Given the description of an element on the screen output the (x, y) to click on. 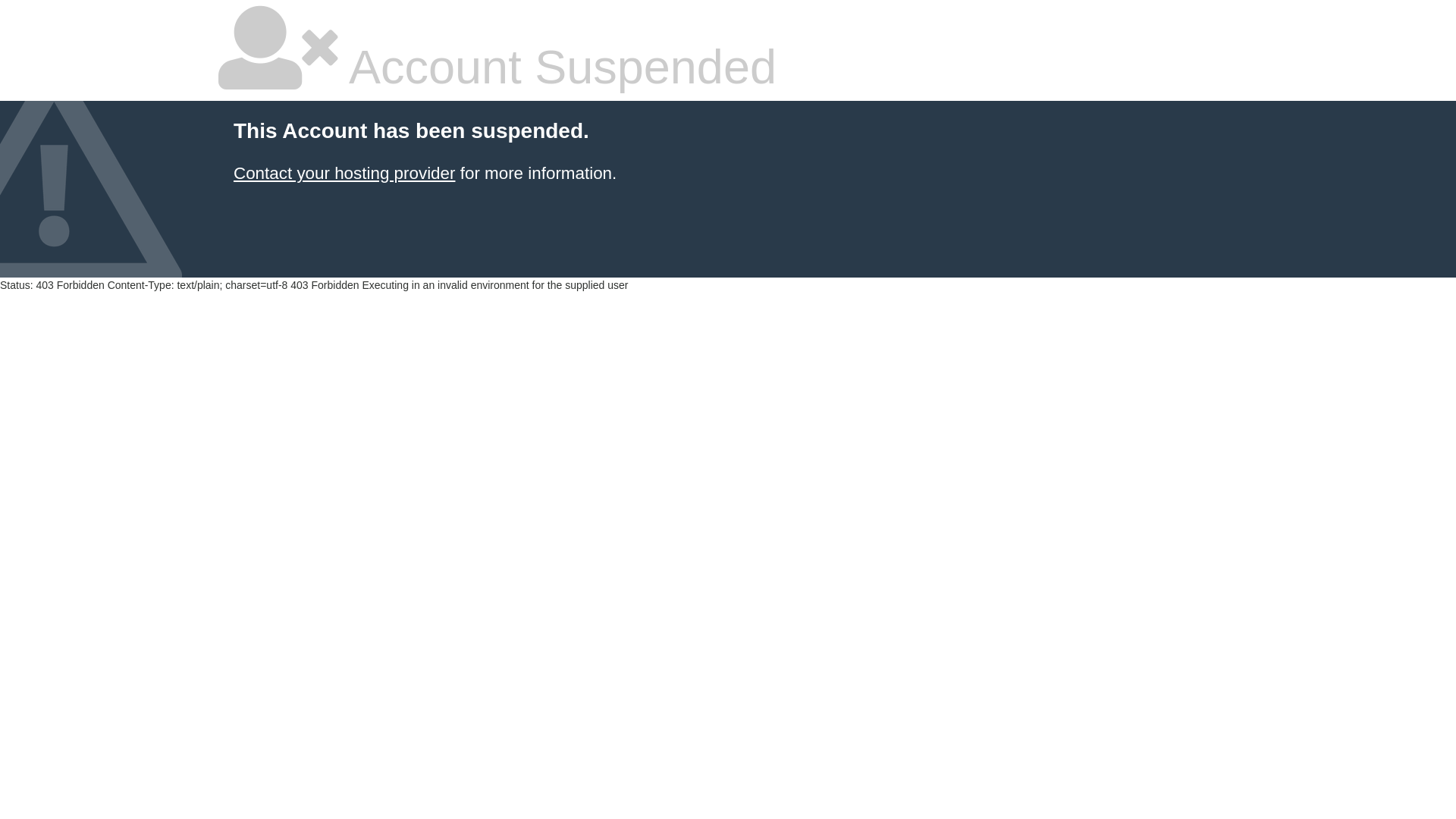
Contact your hosting provider Element type: text (344, 172)
